Given the description of an element on the screen output the (x, y) to click on. 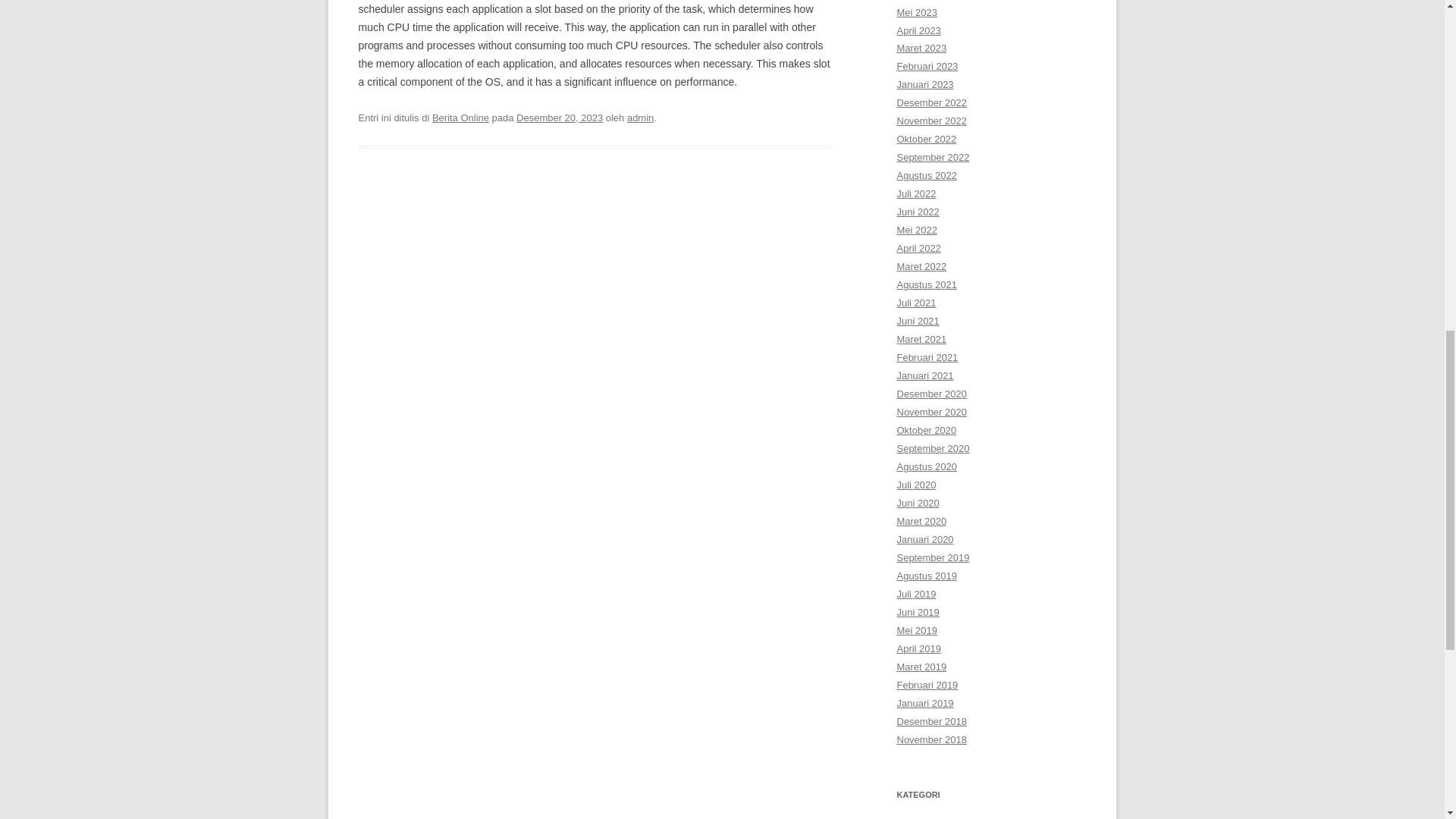
Desember 20, 2023 (559, 117)
7:58 pm (559, 117)
admin (640, 117)
Lihat semua tulisan oleh admin (640, 117)
Berita Online (460, 117)
